Given the description of an element on the screen output the (x, y) to click on. 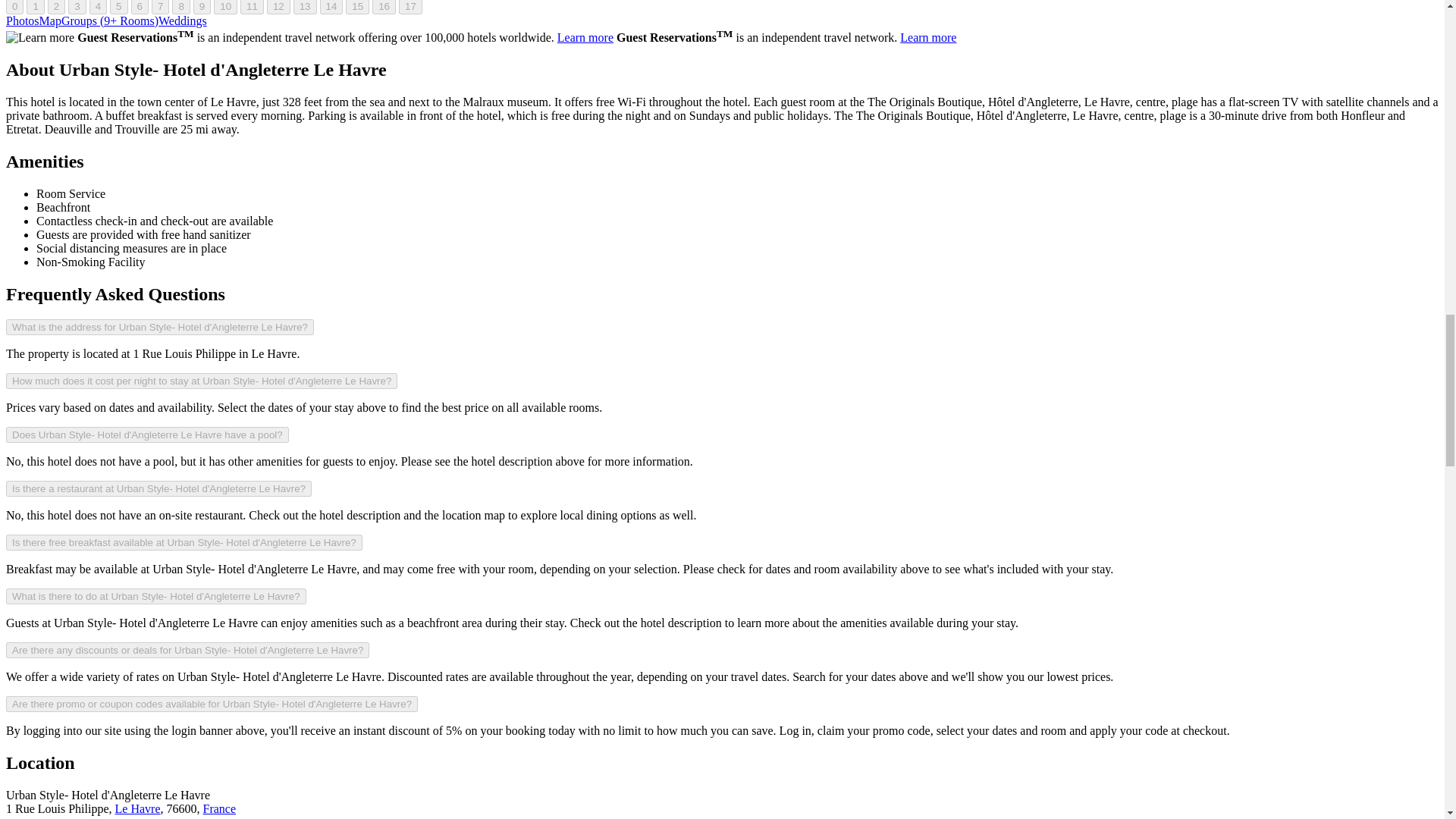
Learn more (584, 37)
Learn more (39, 38)
Weddings (182, 20)
Photos (22, 20)
Map (50, 20)
